Given the description of an element on the screen output the (x, y) to click on. 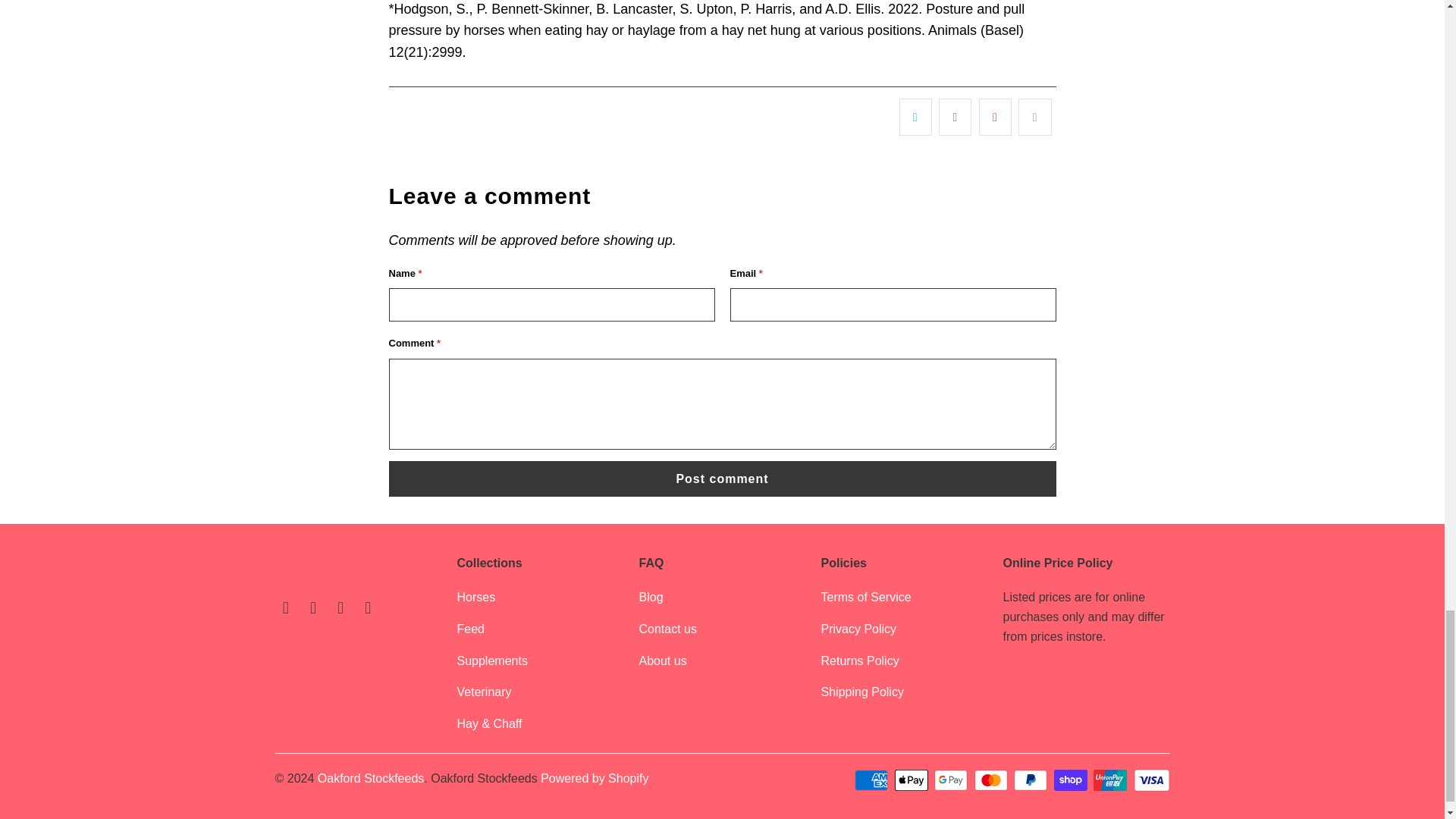
Google Pay (952, 780)
Union Pay (1111, 780)
American Express (872, 780)
Visa (1150, 780)
Mastercard (992, 780)
PayPal (1031, 780)
Shop Pay (1072, 780)
Apple Pay (913, 780)
Post comment (721, 478)
